Given the description of an element on the screen output the (x, y) to click on. 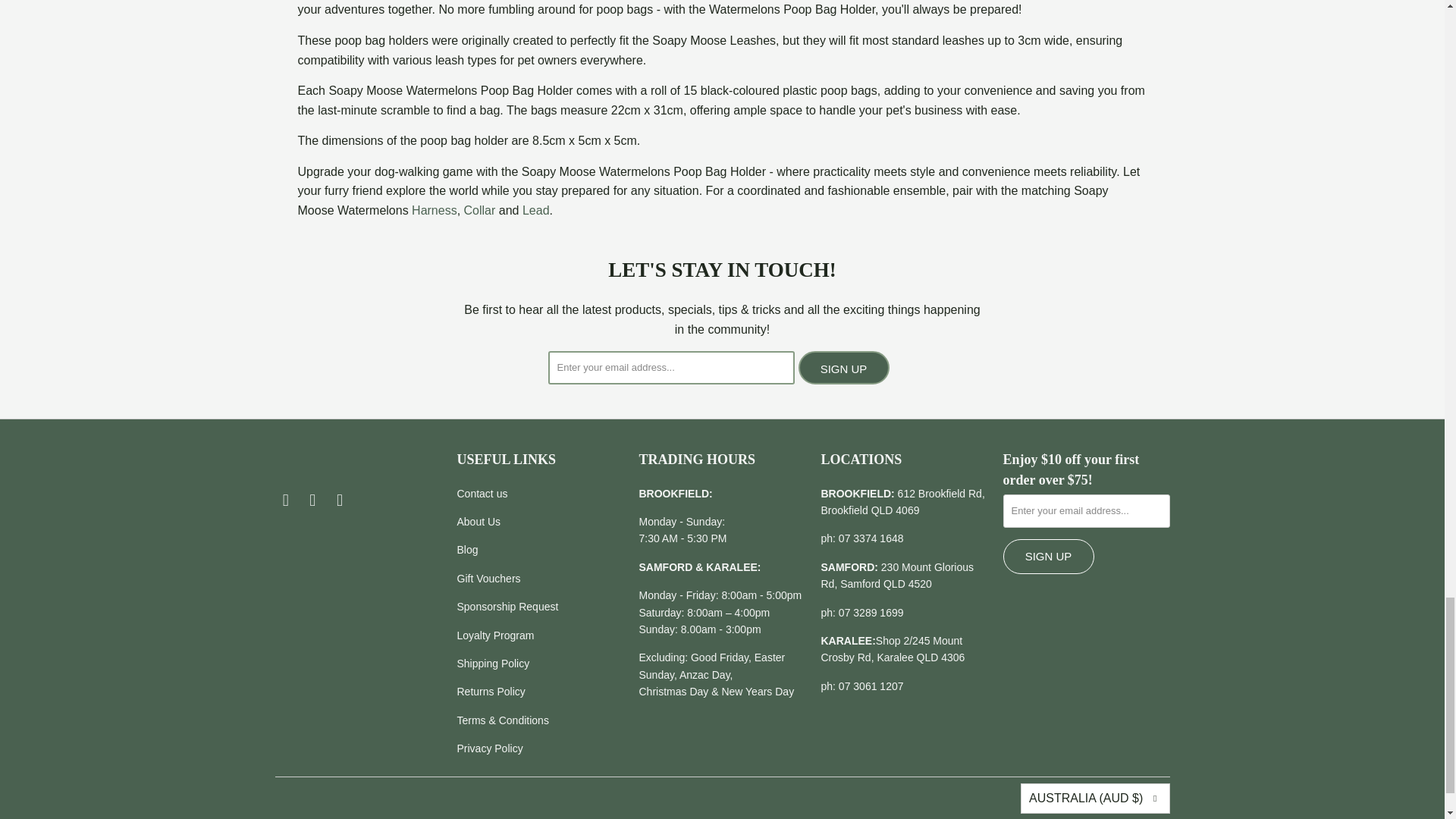
Brookies Rural Traders on Instagram (312, 500)
Brookies Rural Traders on YouTube (340, 500)
Sign Up (1048, 556)
Brookies Rural Traders on Facebook (286, 500)
Sign Up (842, 367)
